Given the description of an element on the screen output the (x, y) to click on. 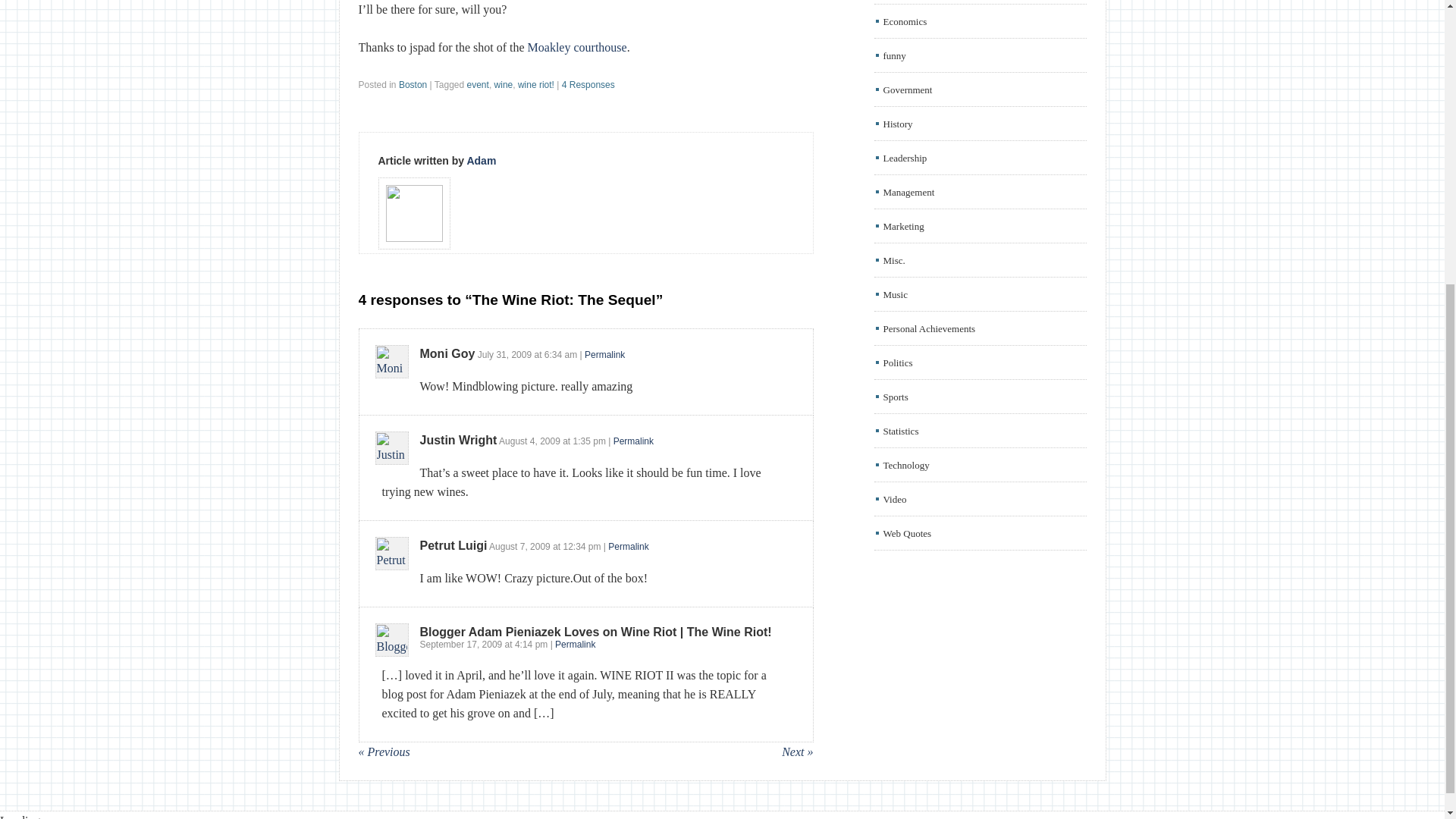
Permalink (604, 354)
Permalink to comment 49084 (604, 354)
Adam (480, 160)
Permalink (632, 440)
Petrut Luigi (453, 545)
Justin Wright (458, 440)
Friday, July 31st, 2009, 6:34 am (560, 354)
4 Responses (588, 84)
event (478, 84)
Adam (480, 160)
